Given the description of an element on the screen output the (x, y) to click on. 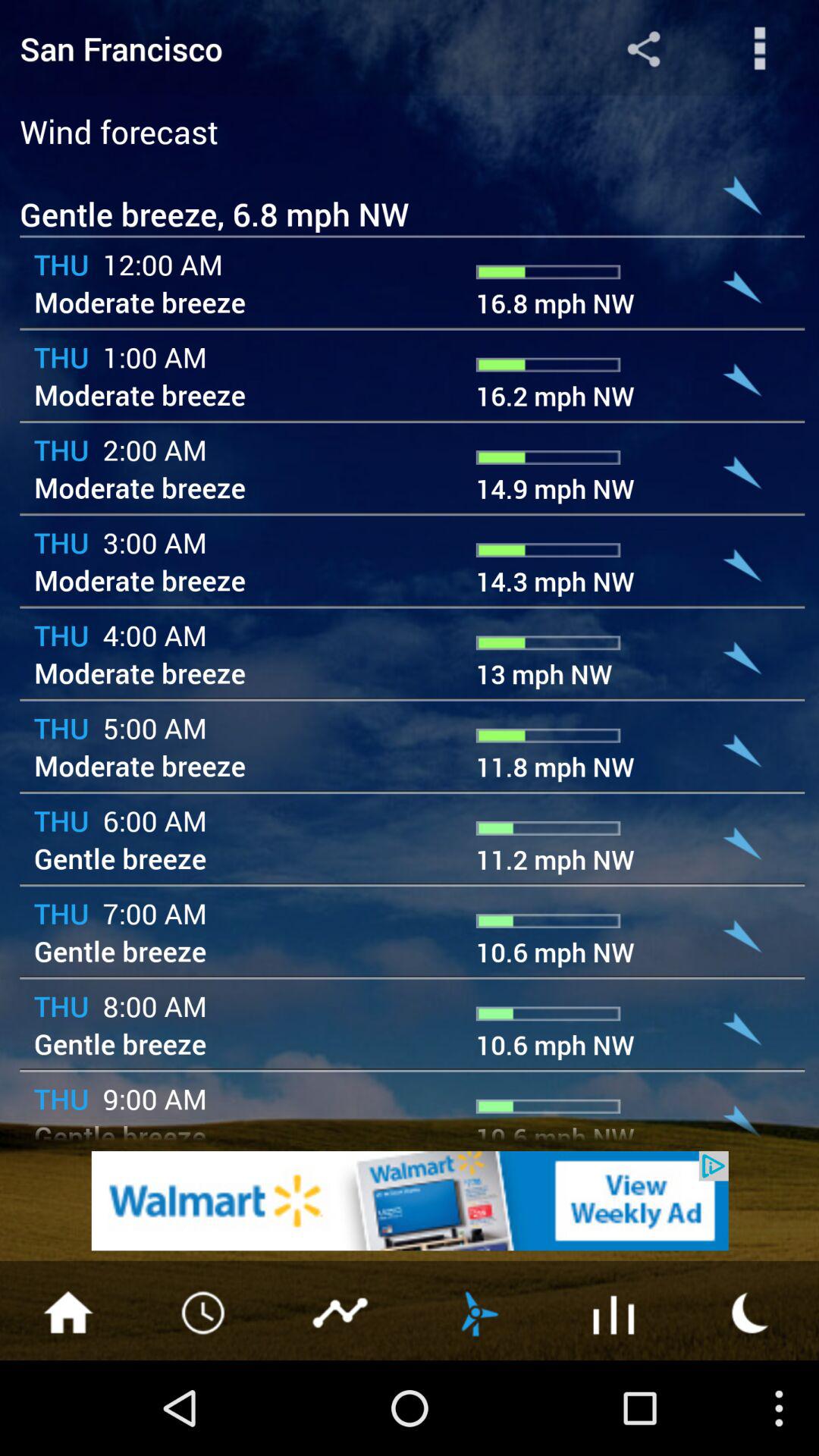
see hourly forecast (204, 1311)
